Given the description of an element on the screen output the (x, y) to click on. 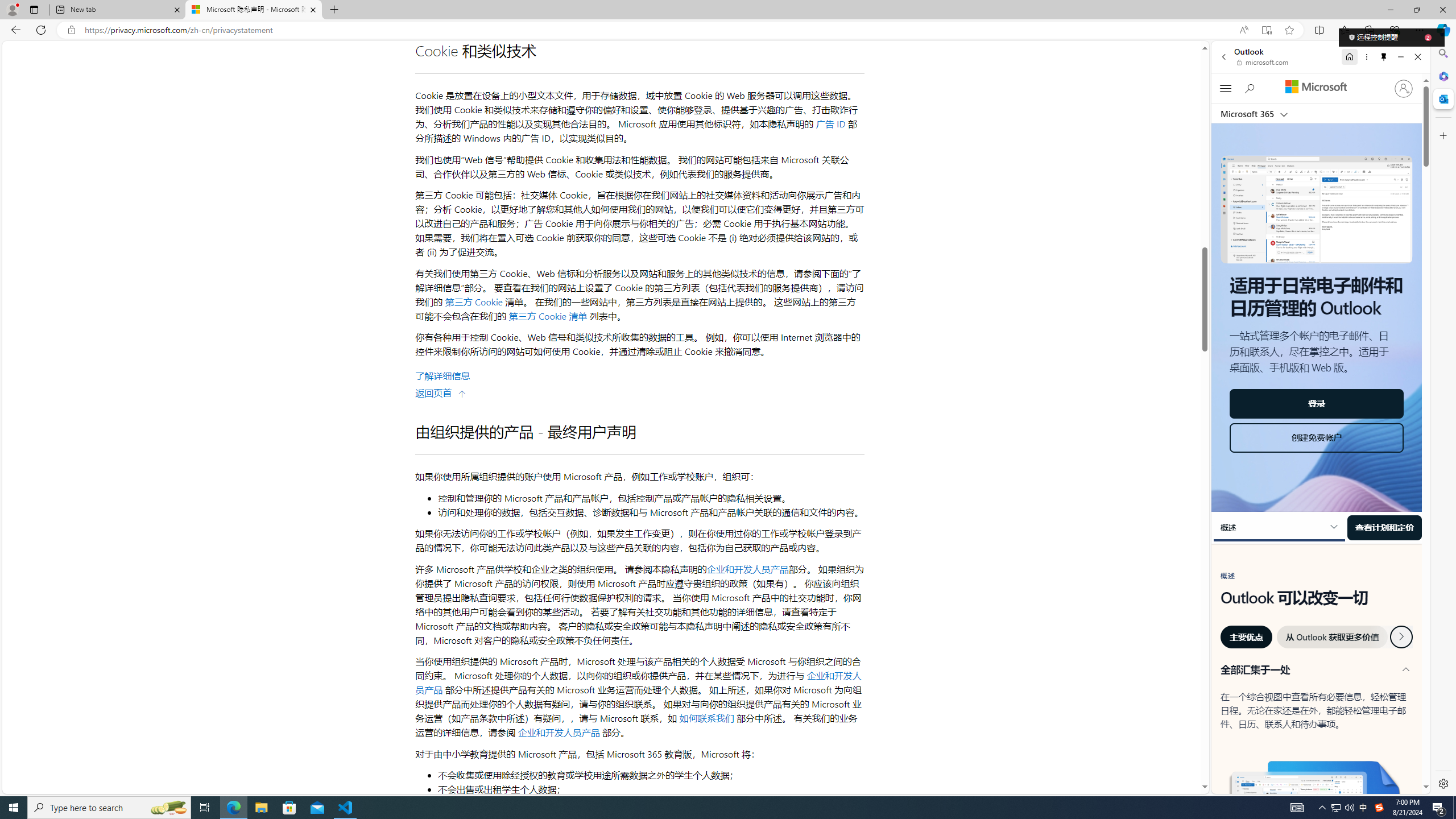
Microsoft (1315, 87)
